Given the description of an element on the screen output the (x, y) to click on. 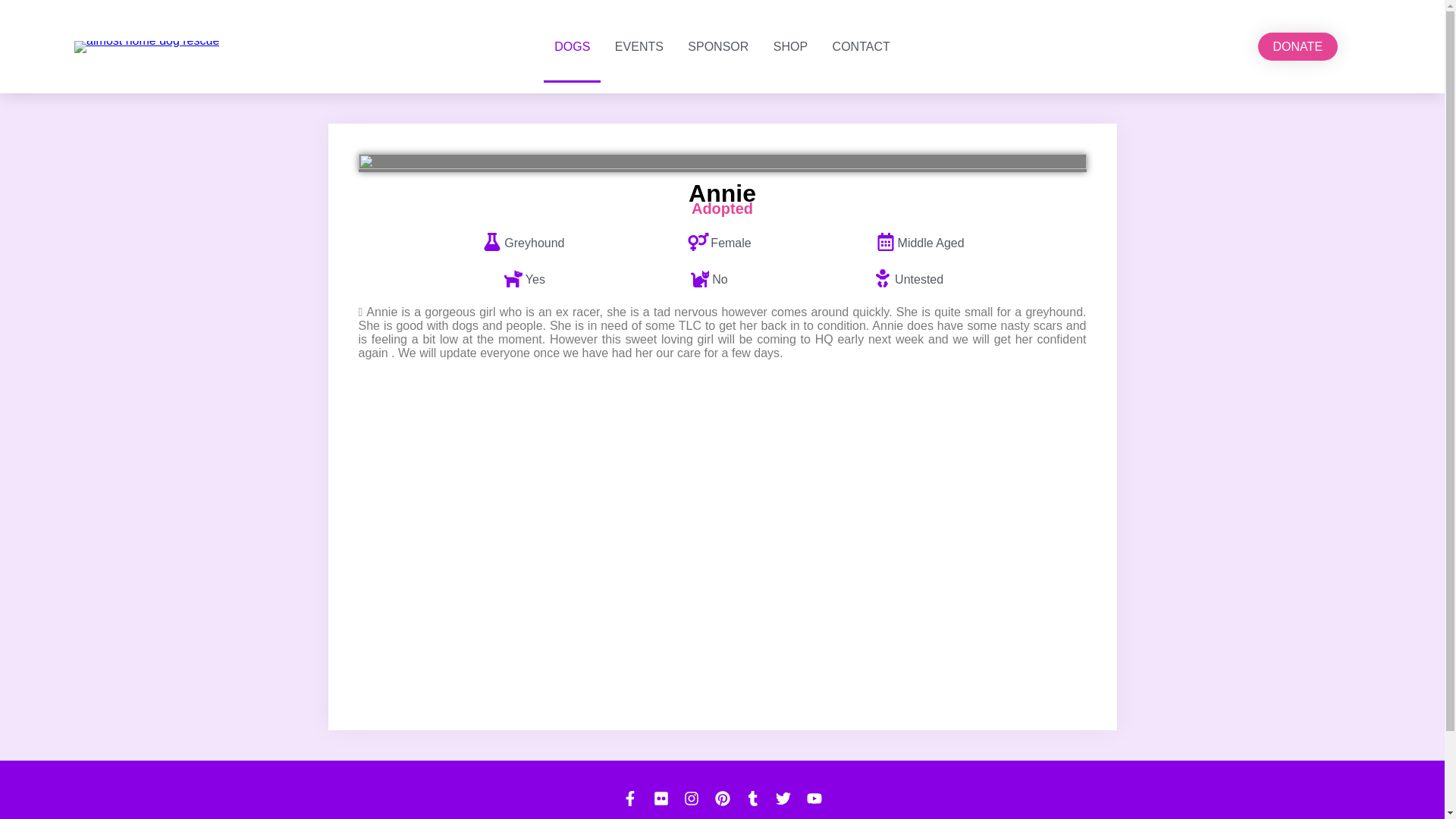
SPONSOR (717, 45)
CONTACT (861, 45)
DONATE (1297, 45)
EVENTS (639, 45)
